Given the description of an element on the screen output the (x, y) to click on. 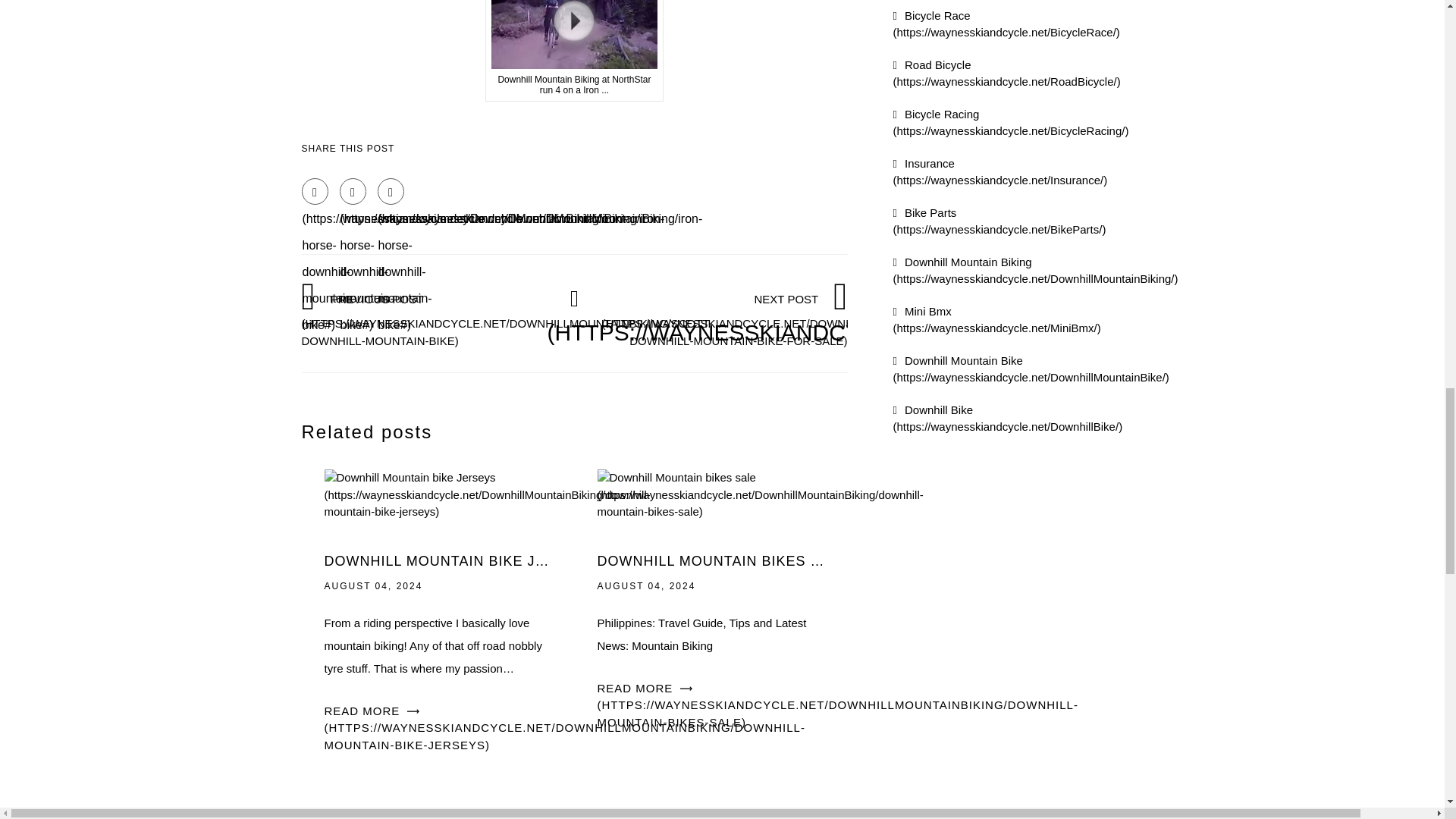
PREVIOUS POST (507, 319)
NEXT POST (804, 319)
View this video from YouTube (573, 51)
DOWNHILL MOUNTAIN BIKE JERSEYS (437, 561)
Facebook (315, 191)
Downhill Mountain bike Jerseys (487, 493)
View all posts filed under Bicycle Race (1006, 24)
Twitter (352, 191)
Downhill Mountain bikes sale (759, 493)
READ MORE (564, 727)
DOWNHILL MOUNTAIN BIKES SALE (710, 561)
Google Plus (390, 191)
READ MORE (837, 704)
